Given the description of an element on the screen output the (x, y) to click on. 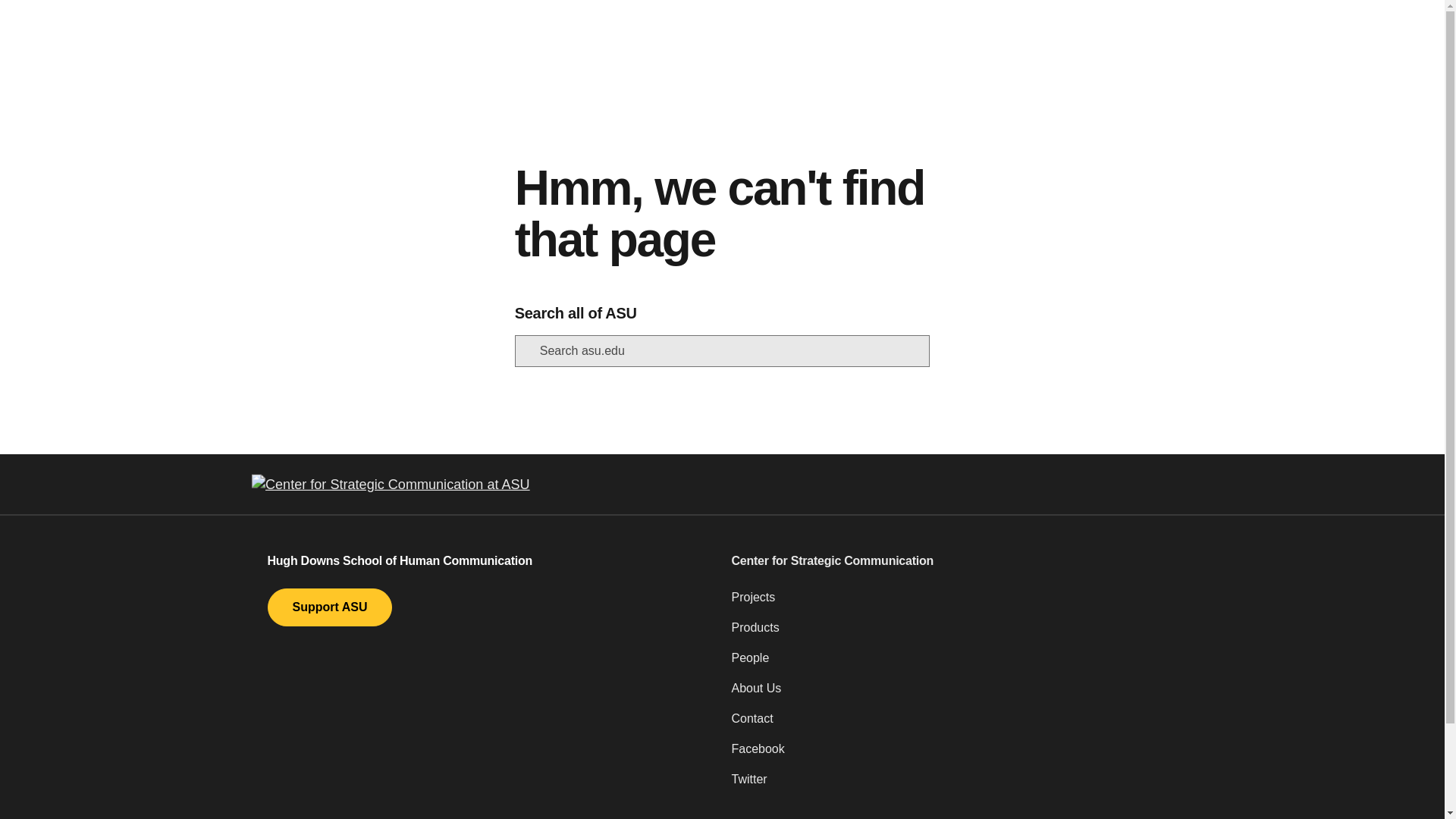
Center for Strategic Communication (953, 561)
Twitter (953, 785)
About Us (953, 694)
Projects (953, 603)
Contact (953, 725)
Facebook (953, 755)
Support ASU (328, 607)
Products (953, 634)
People (953, 664)
